Given the description of an element on the screen output the (x, y) to click on. 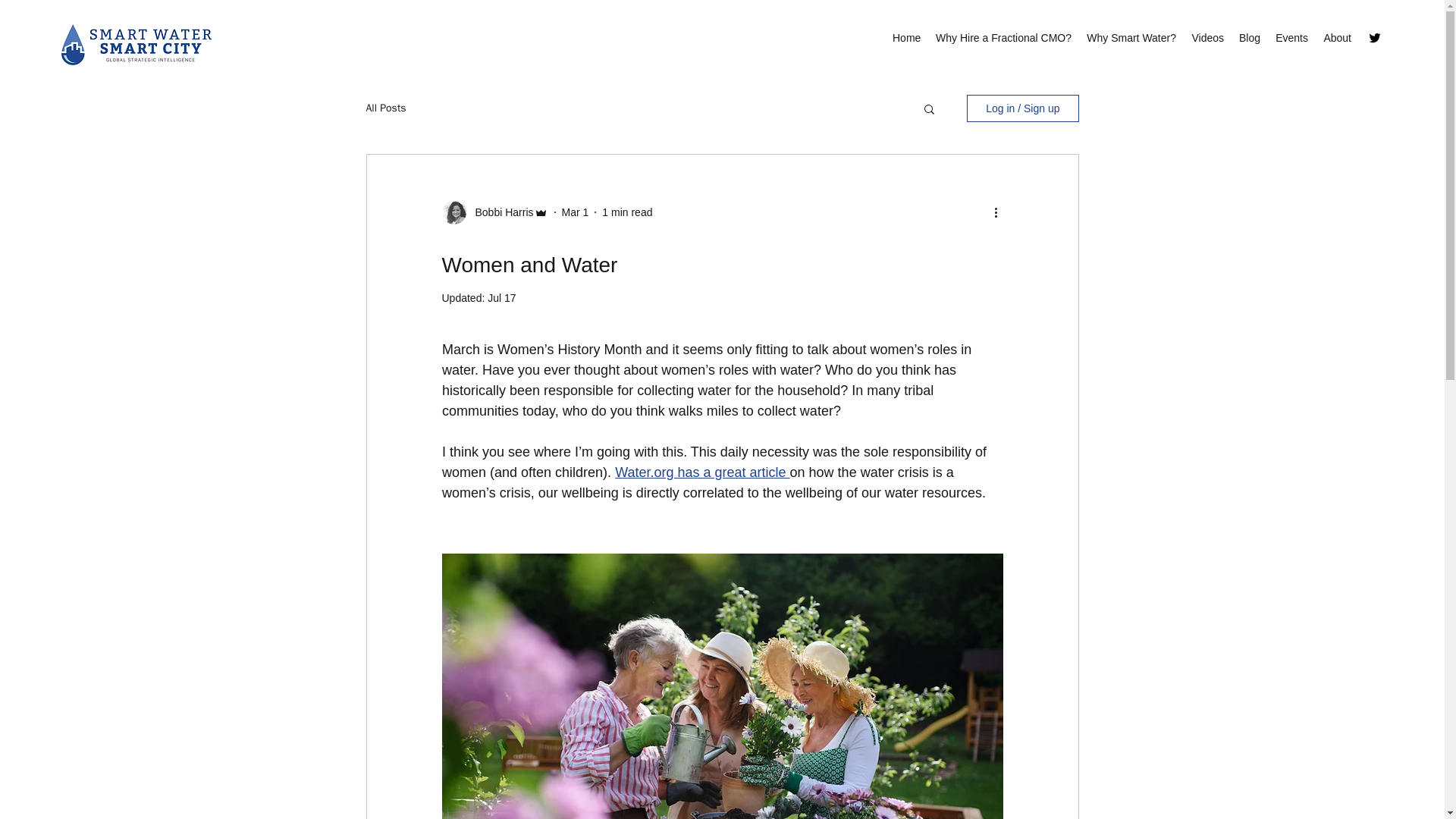
Why Hire a Fractional CMO? (1003, 37)
Home (906, 37)
Blog (1249, 37)
All Posts (385, 108)
Videos (1207, 37)
About (1337, 37)
1 min read (627, 212)
Water.org has a great article  (701, 472)
Events (1292, 37)
Mar 1 (575, 212)
